Given the description of an element on the screen output the (x, y) to click on. 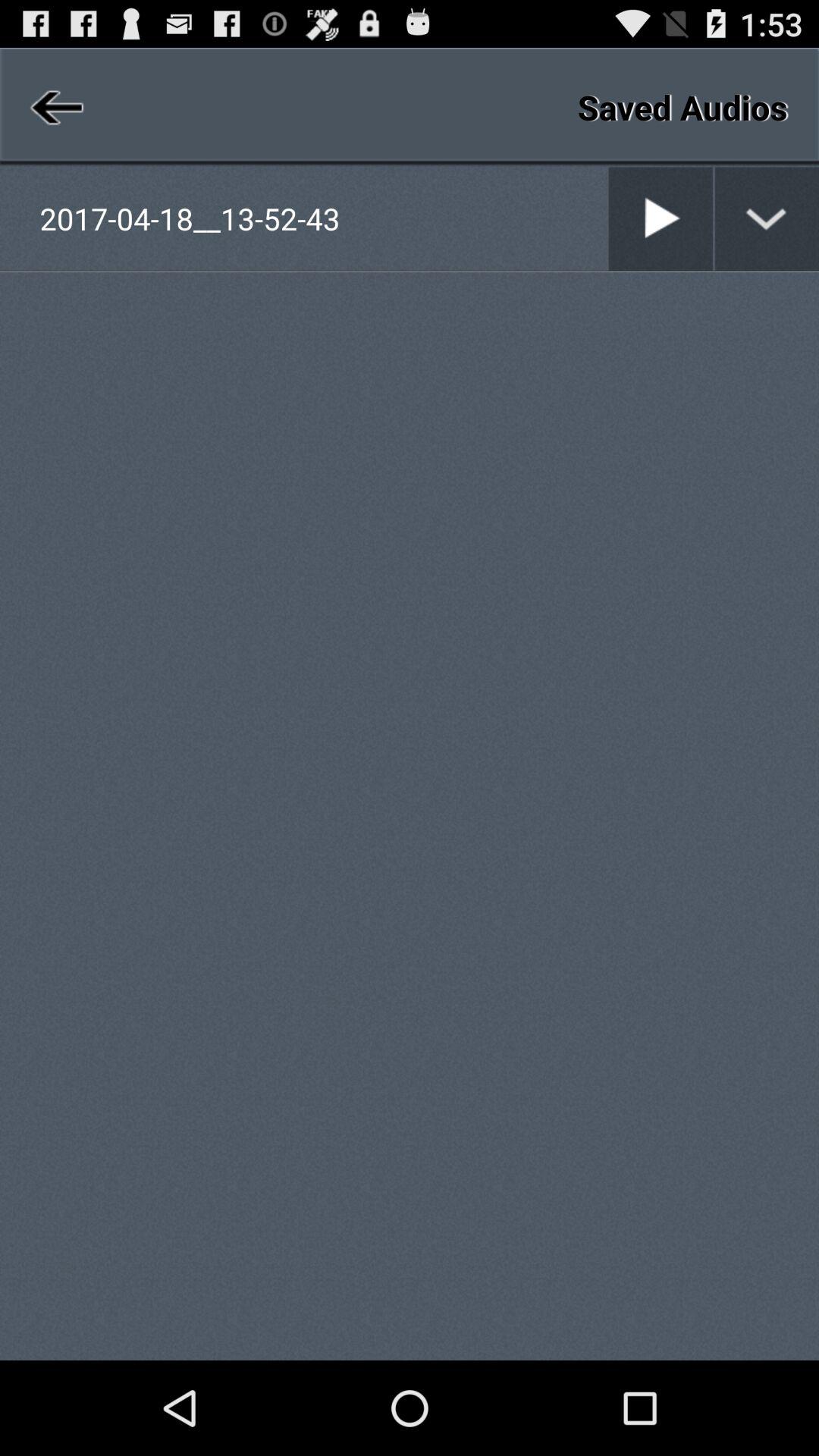
view more information (767, 218)
